Given the description of an element on the screen output the (x, y) to click on. 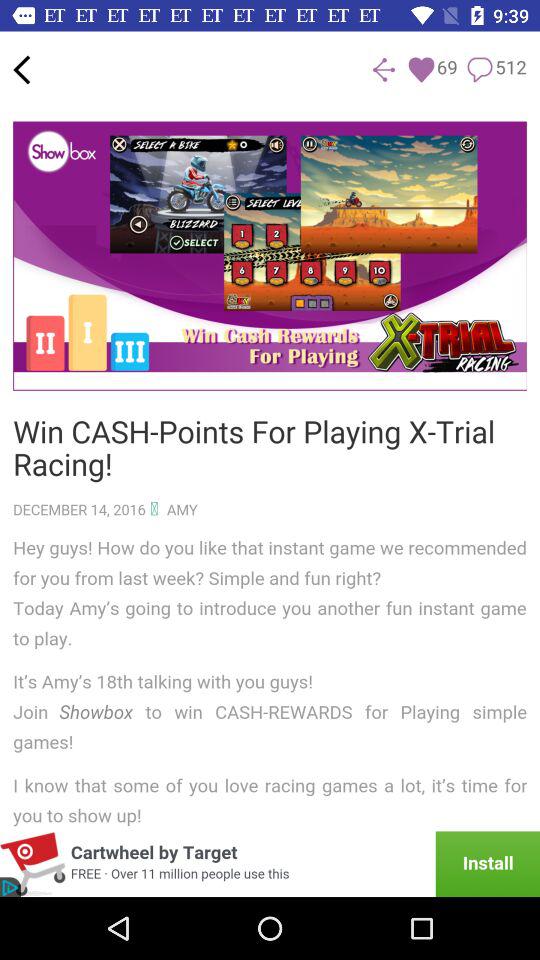
go back (21, 69)
